Given the description of an element on the screen output the (x, y) to click on. 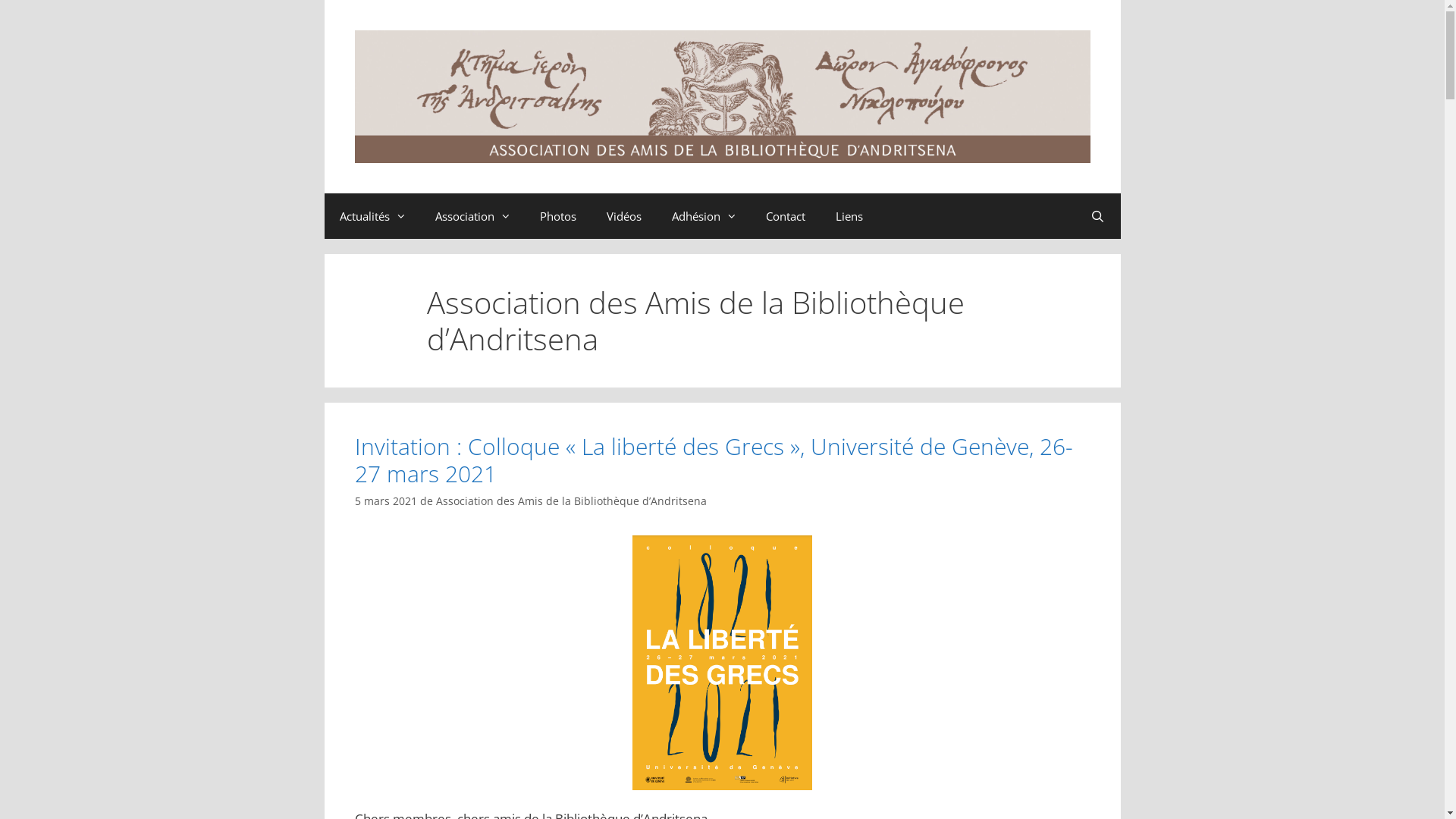
Andritsena.ch Element type: hover (722, 96)
Liens Element type: text (849, 215)
Photos Element type: text (557, 215)
5 mars 2021 Element type: text (385, 500)
Rechercher Element type: text (1097, 215)
Association Element type: text (472, 215)
Andritsena.ch Element type: hover (722, 94)
Contact Element type: text (785, 215)
